Given the description of an element on the screen output the (x, y) to click on. 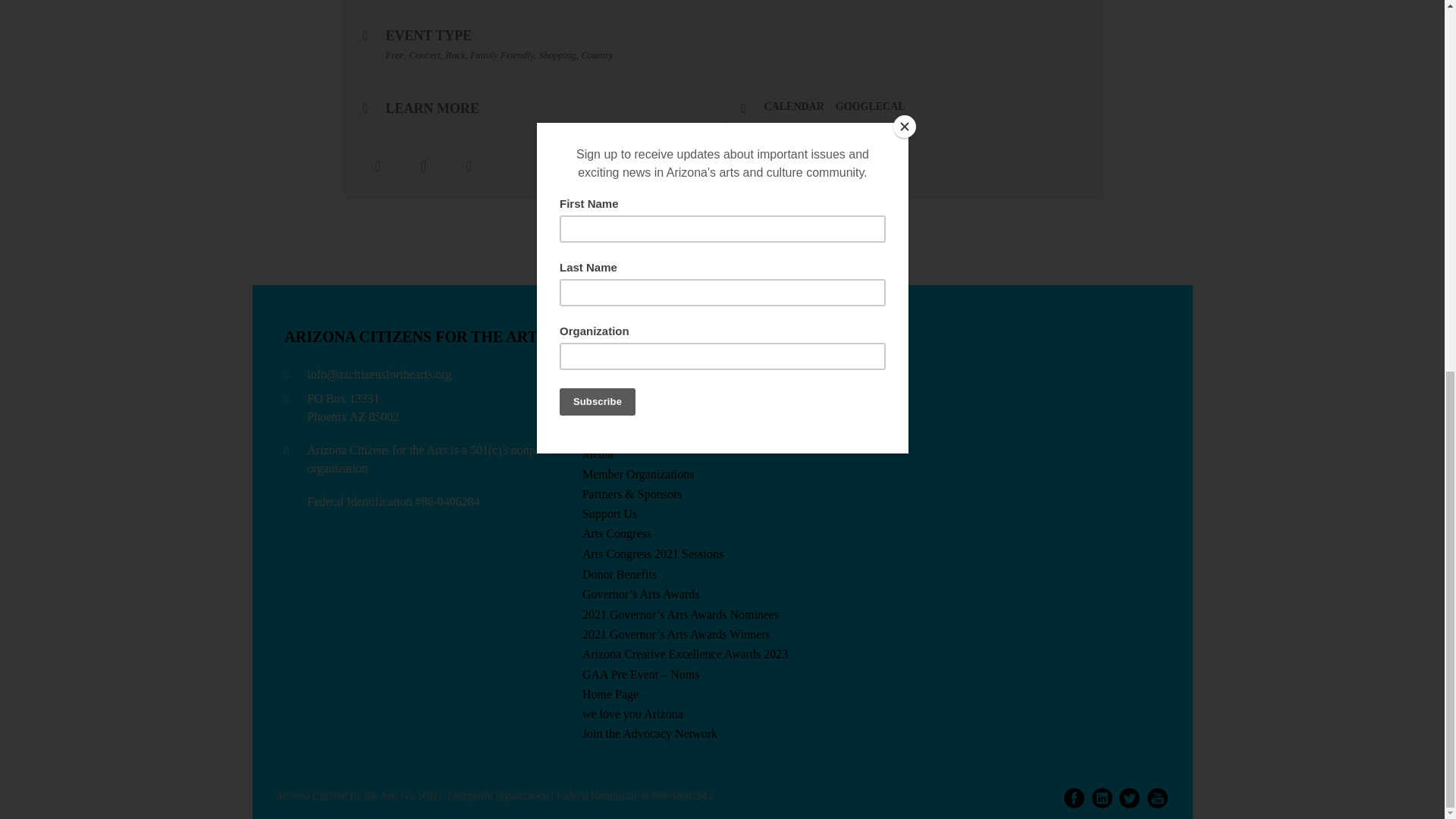
Add to google calendar (876, 106)
Add to your calendar (799, 106)
Share on Twitter (423, 166)
